Given the description of an element on the screen output the (x, y) to click on. 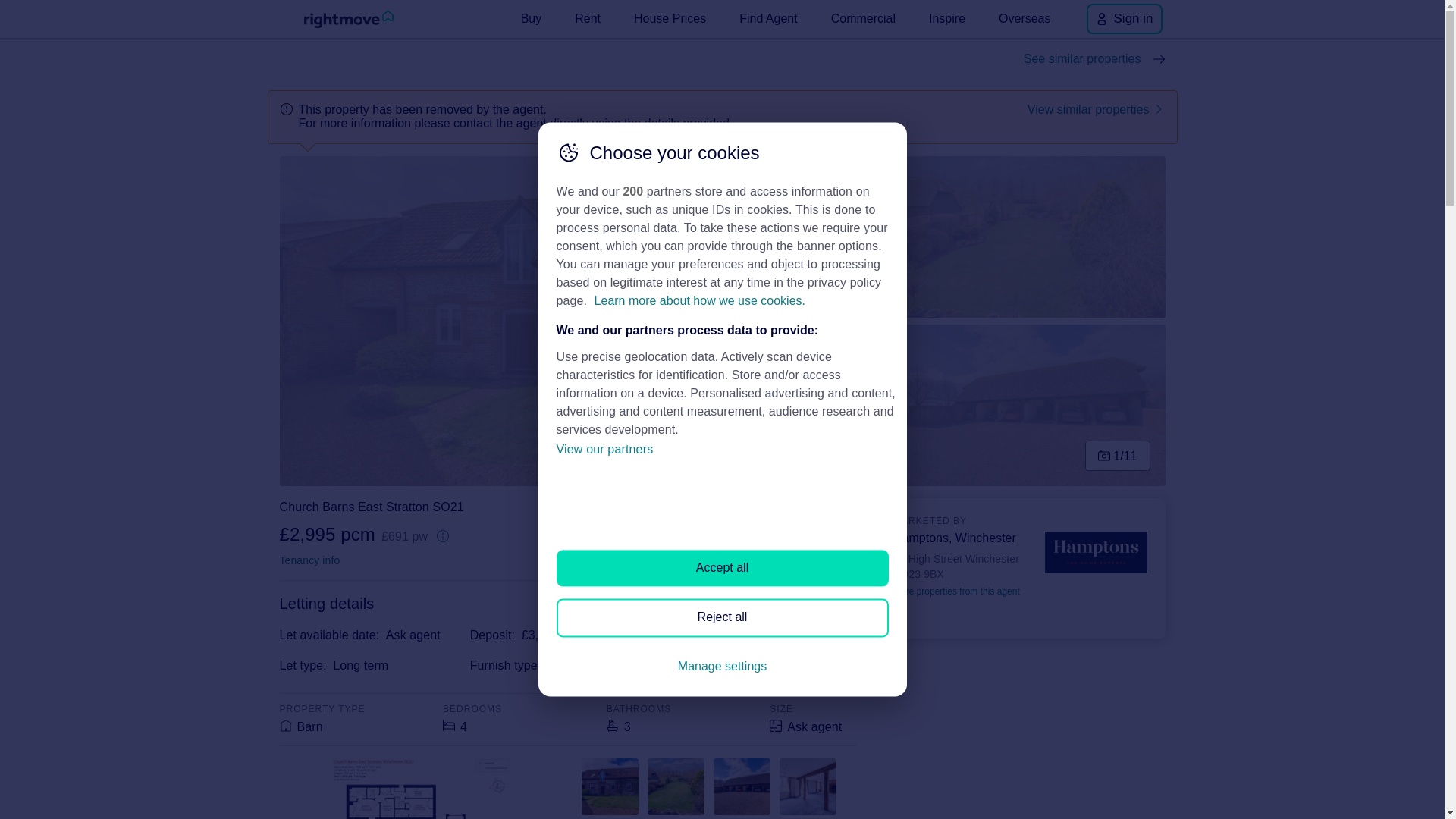
Parking Area (1020, 405)
Overseas (1024, 18)
Find Agent (768, 18)
Garden (1020, 236)
Rent (588, 18)
Buy (531, 18)
Save this property (840, 506)
Tenancy information (309, 560)
Share this property (792, 506)
Commercial (863, 18)
Inspire (947, 18)
House Prices (669, 18)
